Given the description of an element on the screen output the (x, y) to click on. 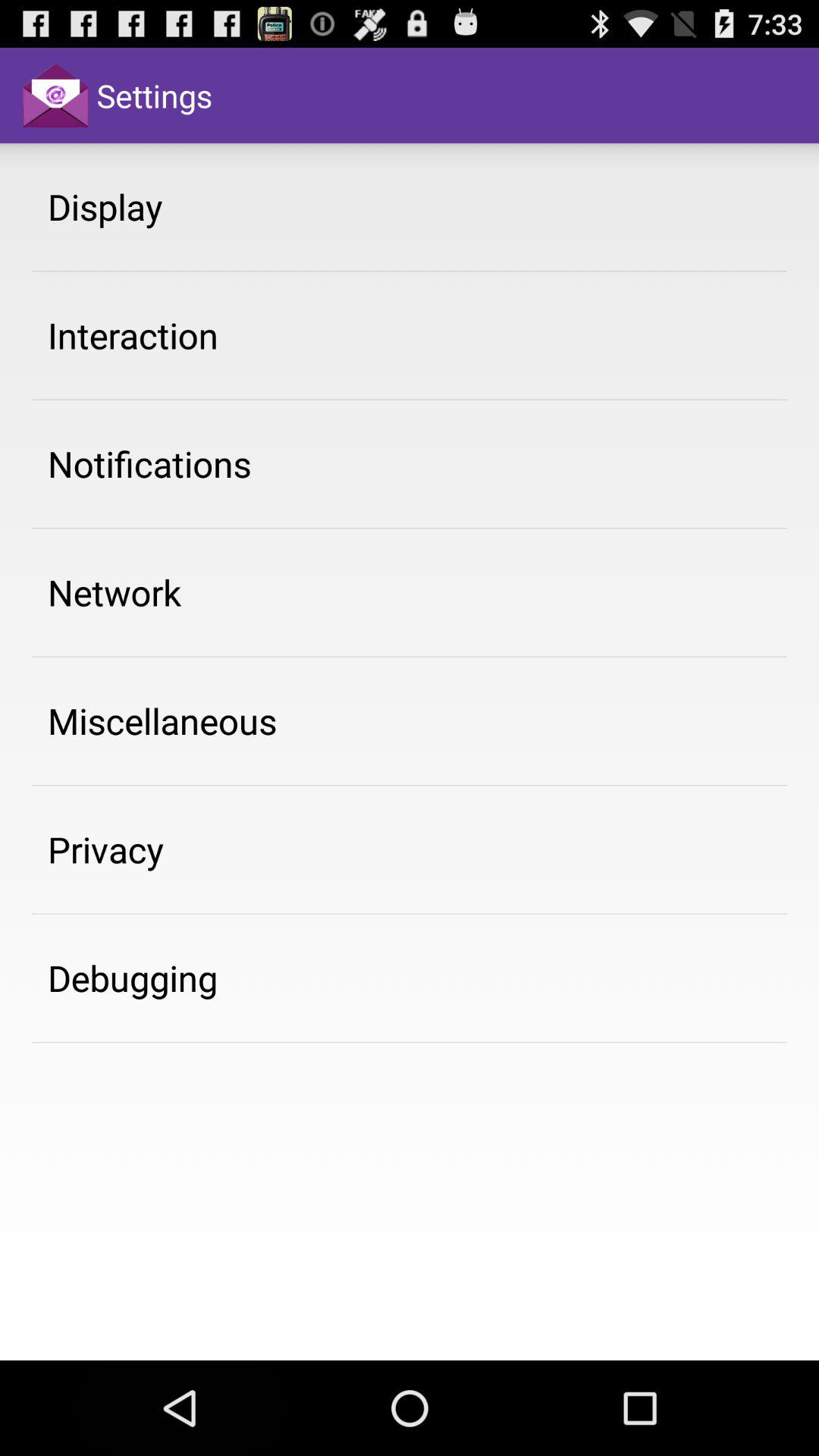
select miscellaneous icon (161, 720)
